Given the description of an element on the screen output the (x, y) to click on. 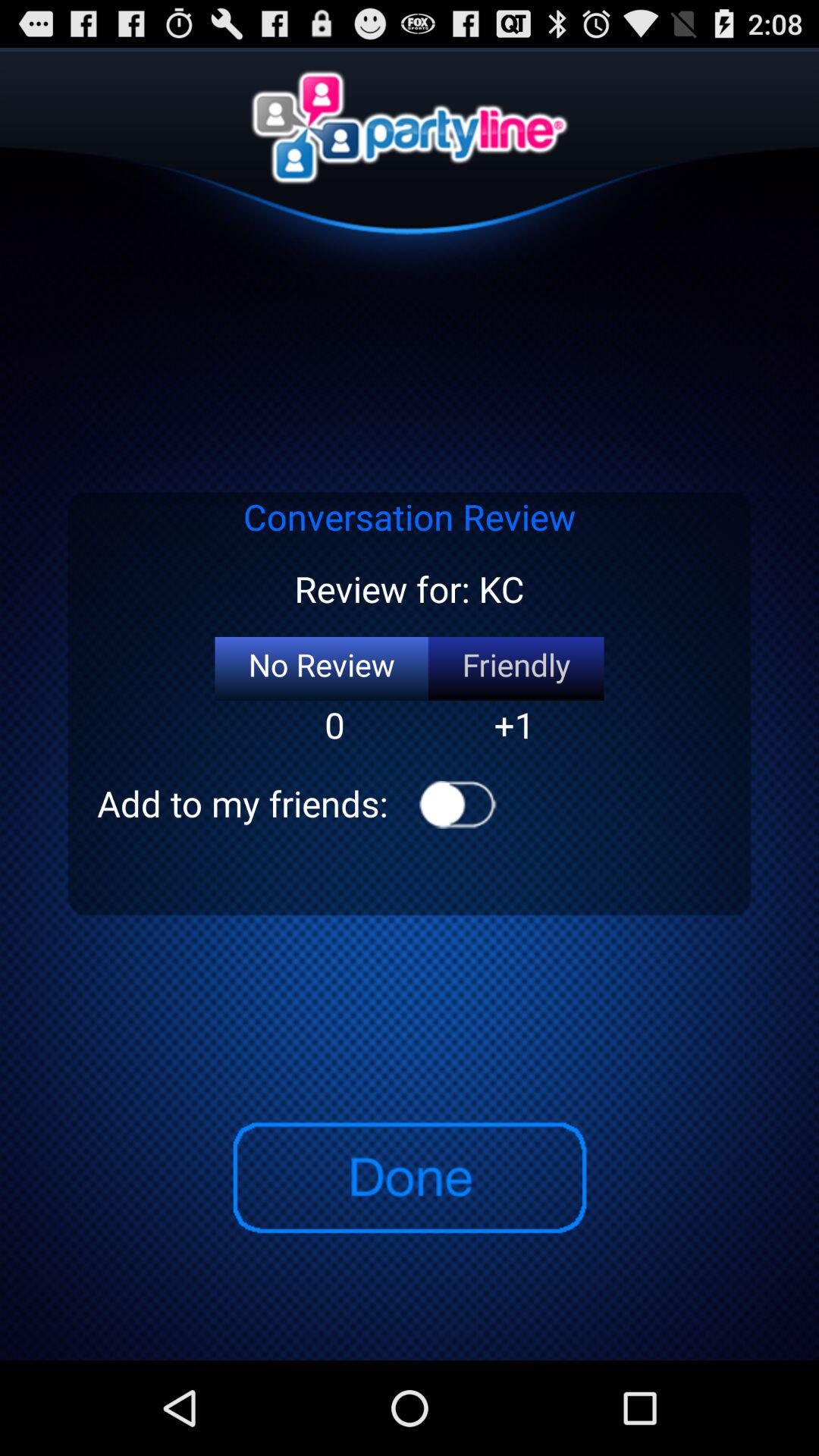
open the icon next to no review item (516, 668)
